Given the description of an element on the screen output the (x, y) to click on. 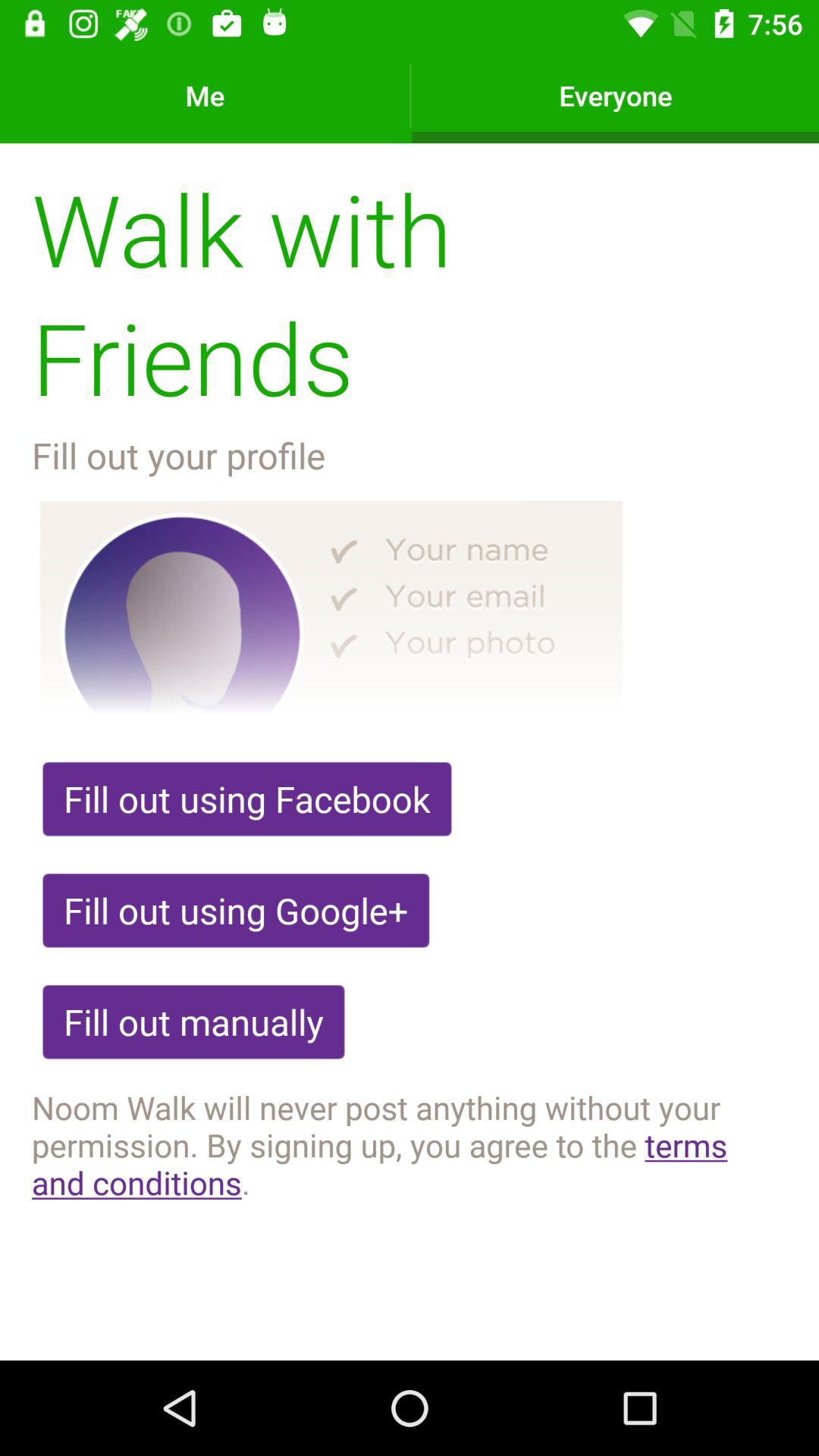
tap the icon below fill out manually (409, 1144)
